Given the description of an element on the screen output the (x, y) to click on. 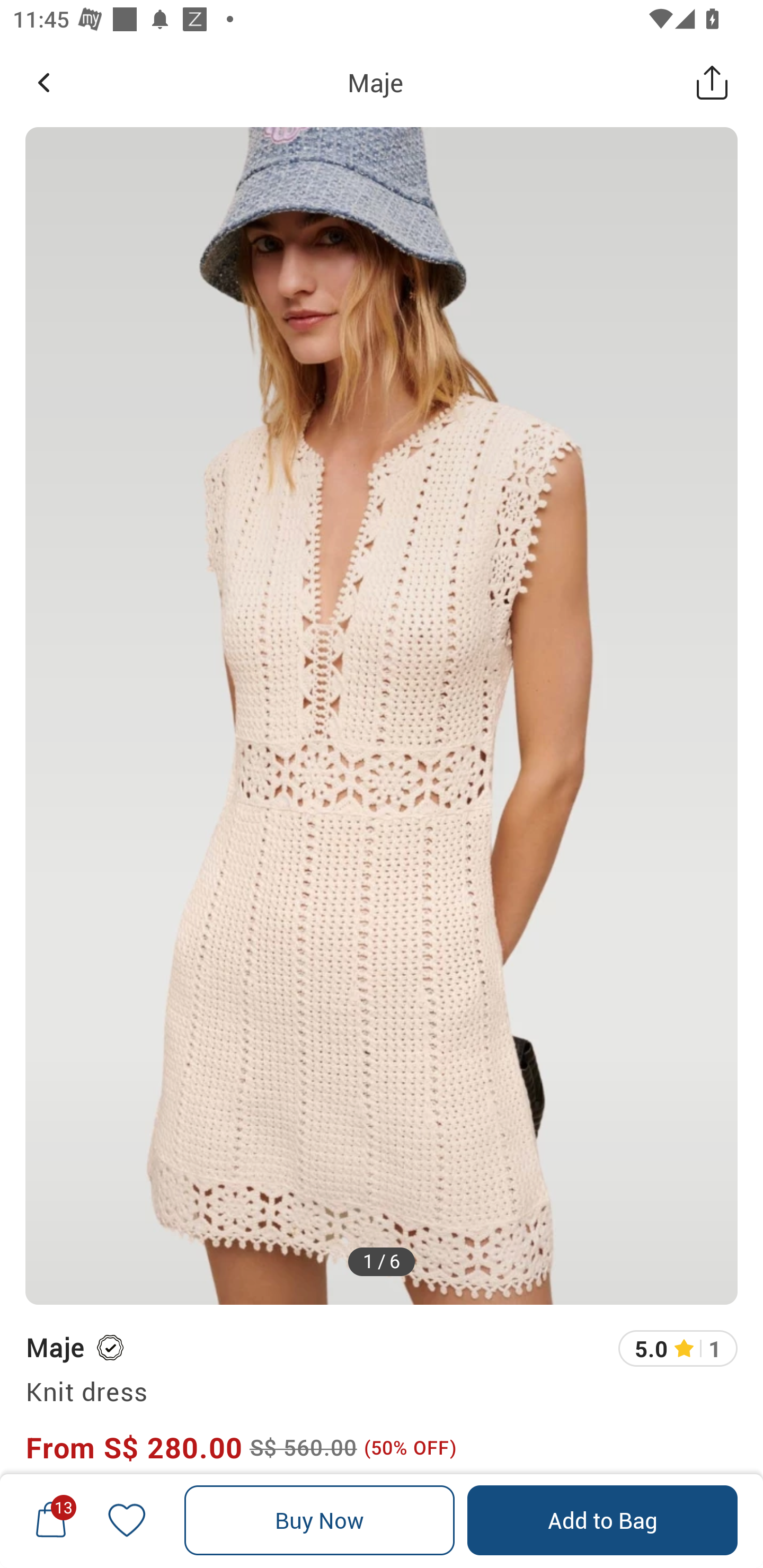
Maje (375, 82)
Share this Product (711, 82)
Maje (54, 1346)
5.0 1 (677, 1348)
Buy Now (319, 1519)
Add to Bag (601, 1519)
13 (50, 1520)
